Given the description of an element on the screen output the (x, y) to click on. 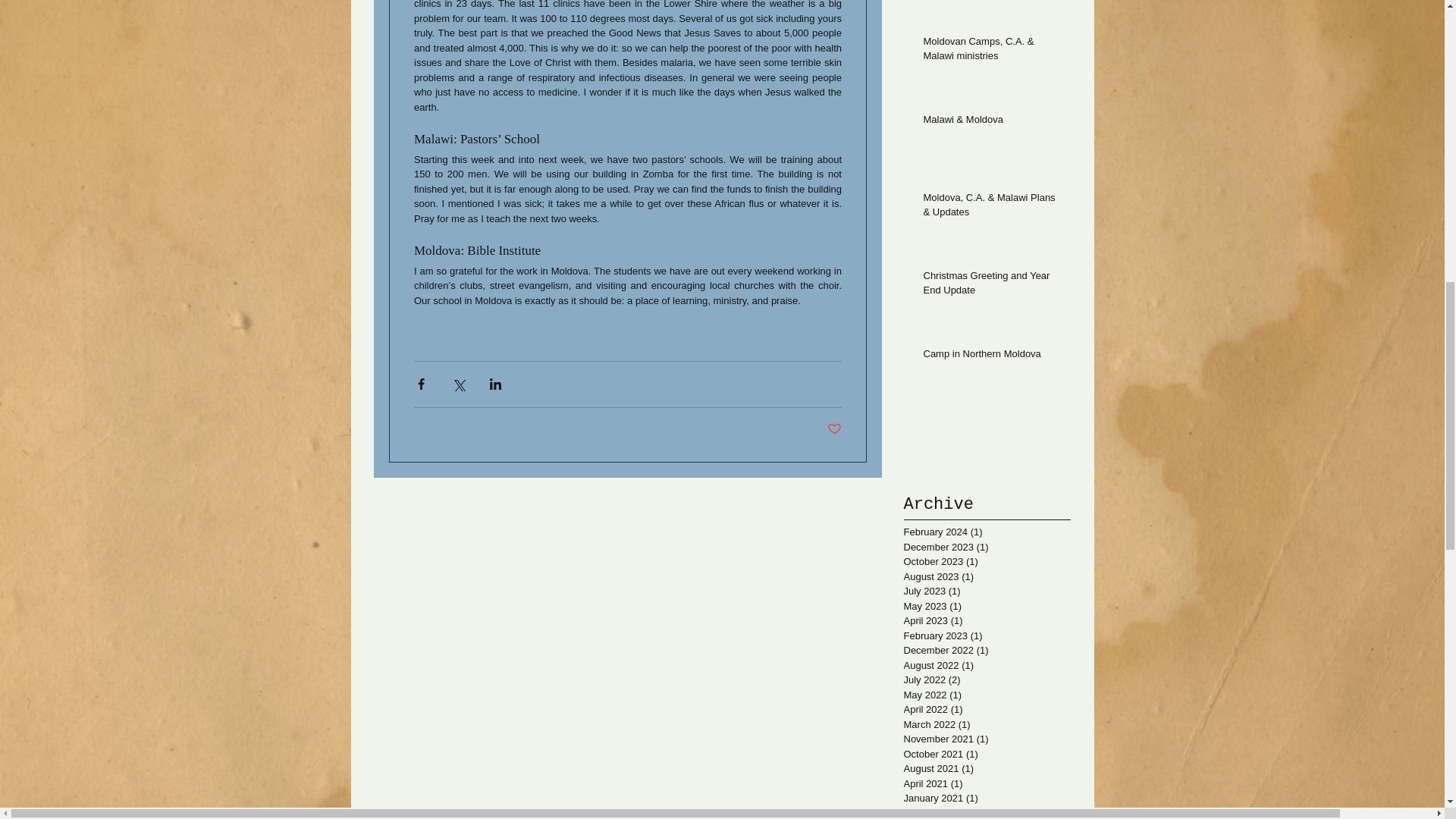
Post not marked as liked (834, 429)
Christmas Greeting and Year End Update (992, 285)
Camp in Northern Moldova (992, 356)
